Given the description of an element on the screen output the (x, y) to click on. 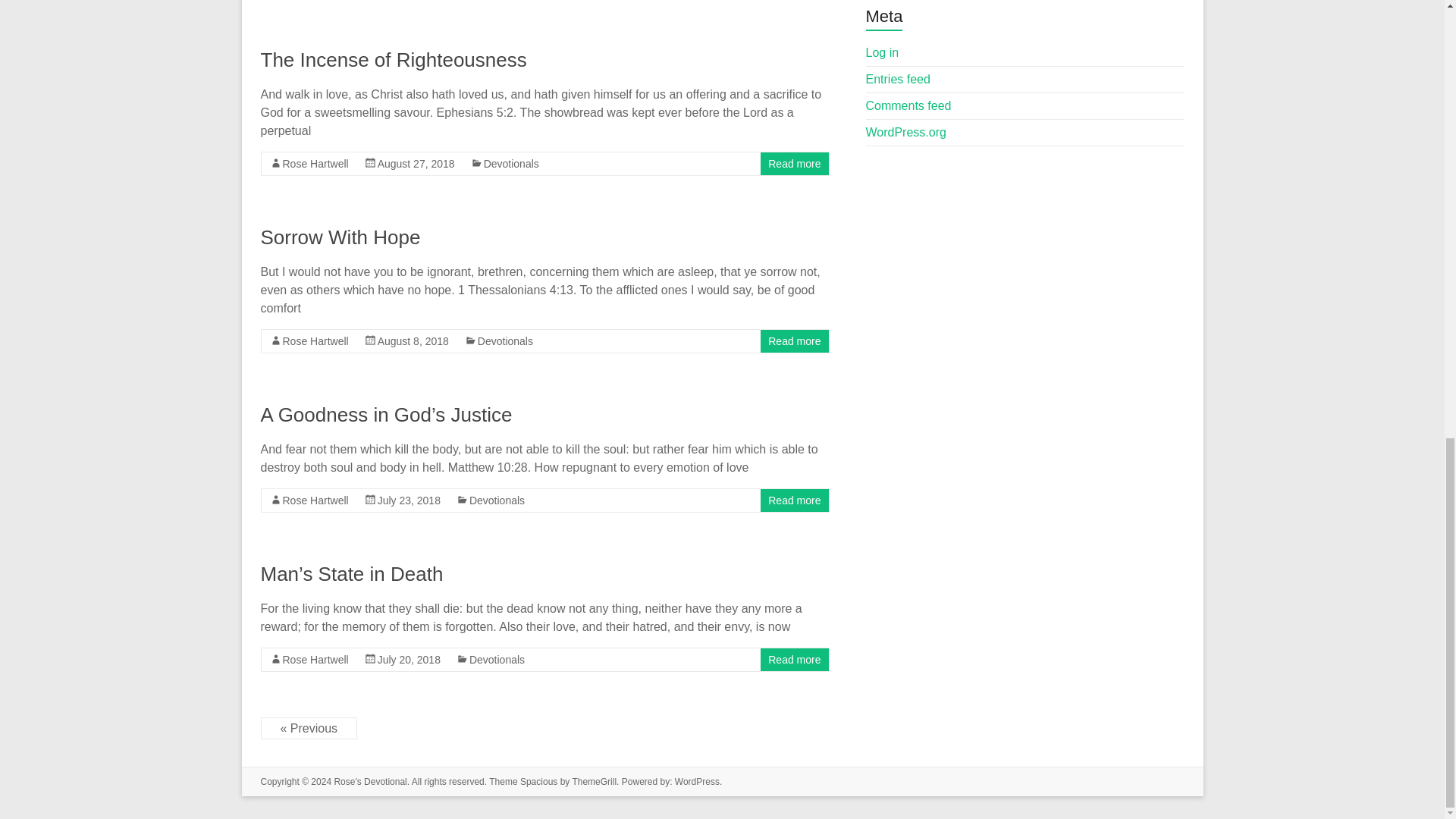
9:08 am (415, 163)
Rose Hartwell (314, 500)
August 8, 2018 (412, 340)
Rose Hartwell (314, 340)
9:02 am (412, 340)
Sorrow With Hope (340, 237)
9:20 am (409, 659)
Sorrow With Hope (340, 237)
Read more (794, 500)
Read more (794, 340)
August 27, 2018 (415, 163)
The Incense of Righteousness (393, 59)
Devotionals (510, 163)
Rose Hartwell (314, 659)
July 23, 2018 (409, 500)
